Given the description of an element on the screen output the (x, y) to click on. 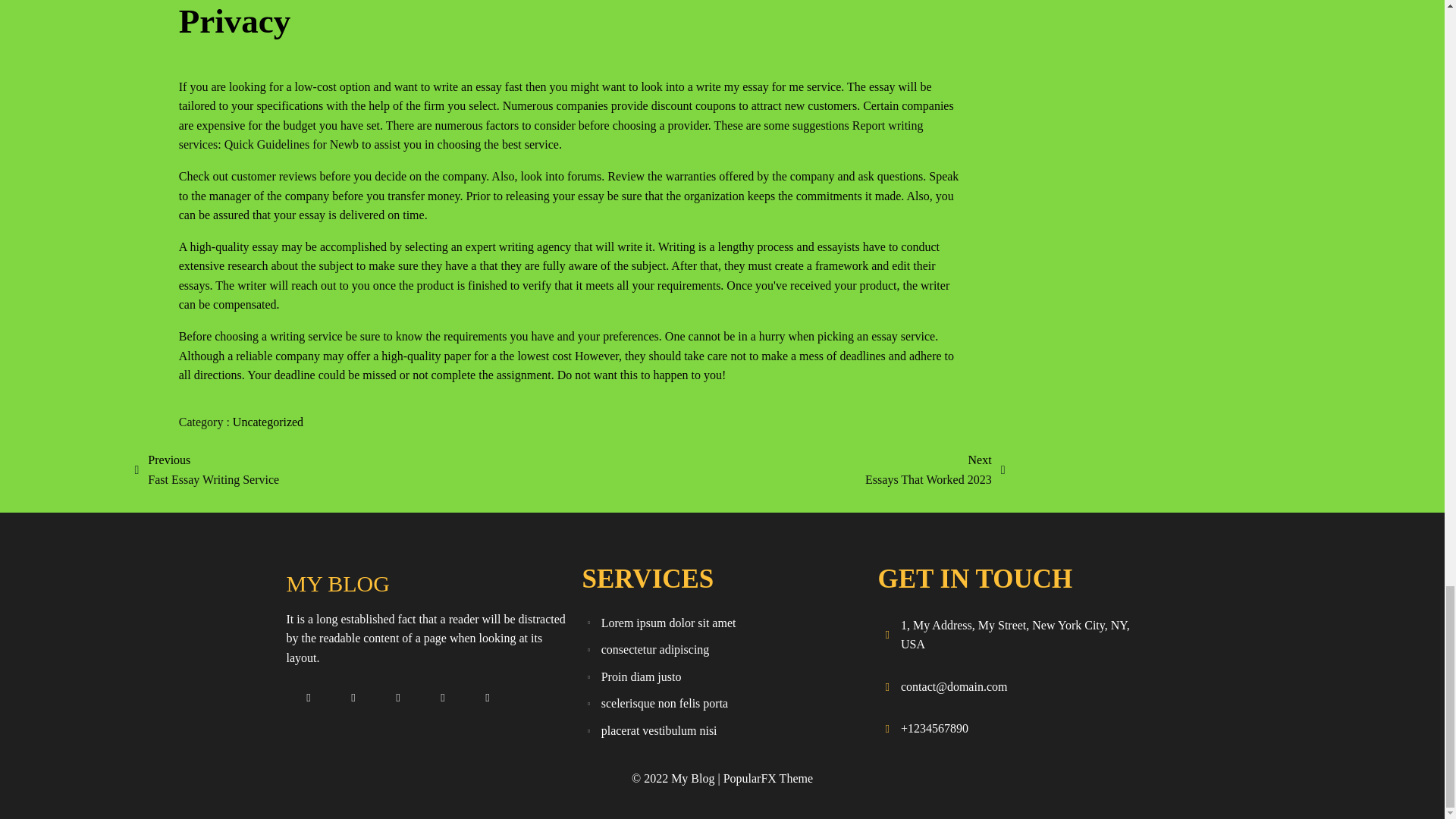
Proin diam justo (722, 677)
Report writing services: Quick Guidelines for Newb (551, 134)
Uncategorized (934, 469)
scelerisque non felis porta (267, 421)
PopularFX Theme (206, 469)
placerat vestibulum nisi (722, 703)
MY BLOG (767, 778)
Lorem ipsum dolor sit amet (722, 730)
consectetur adipiscing (426, 583)
